Given the description of an element on the screen output the (x, y) to click on. 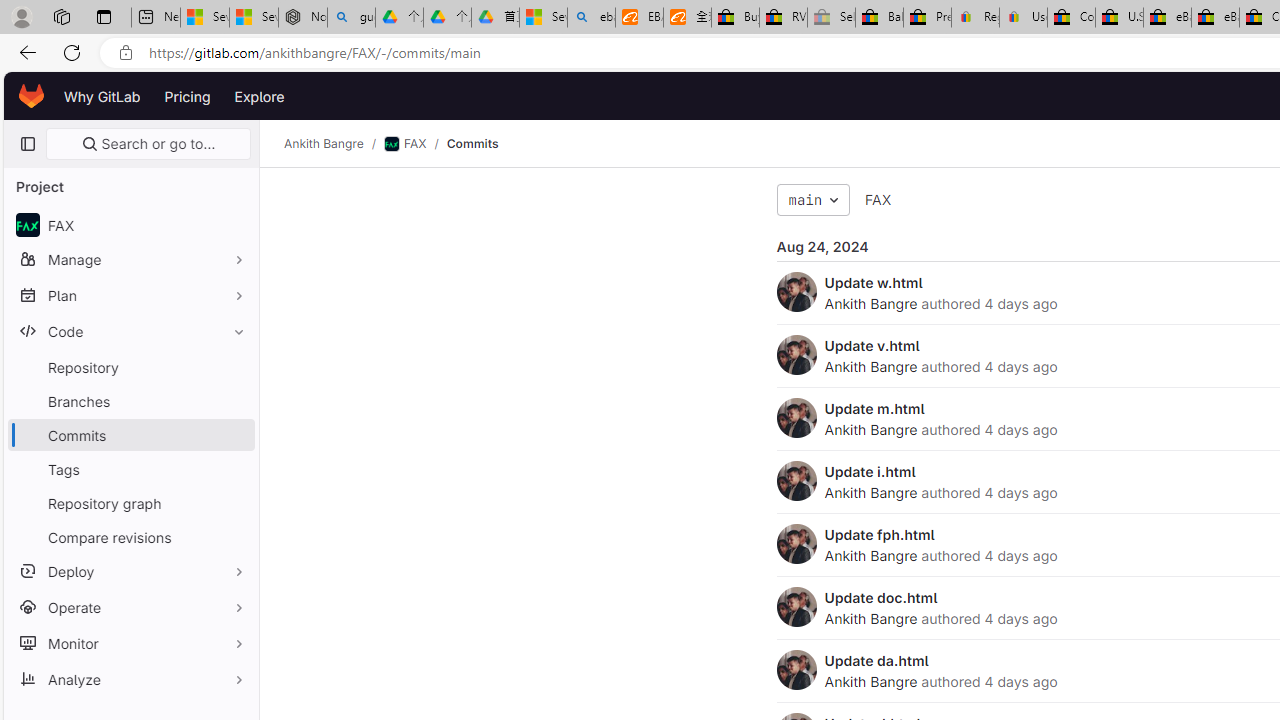
eBay Inc. Reports Third Quarter 2023 Results (1215, 17)
Update m.html (874, 408)
